Given the description of an element on the screen output the (x, y) to click on. 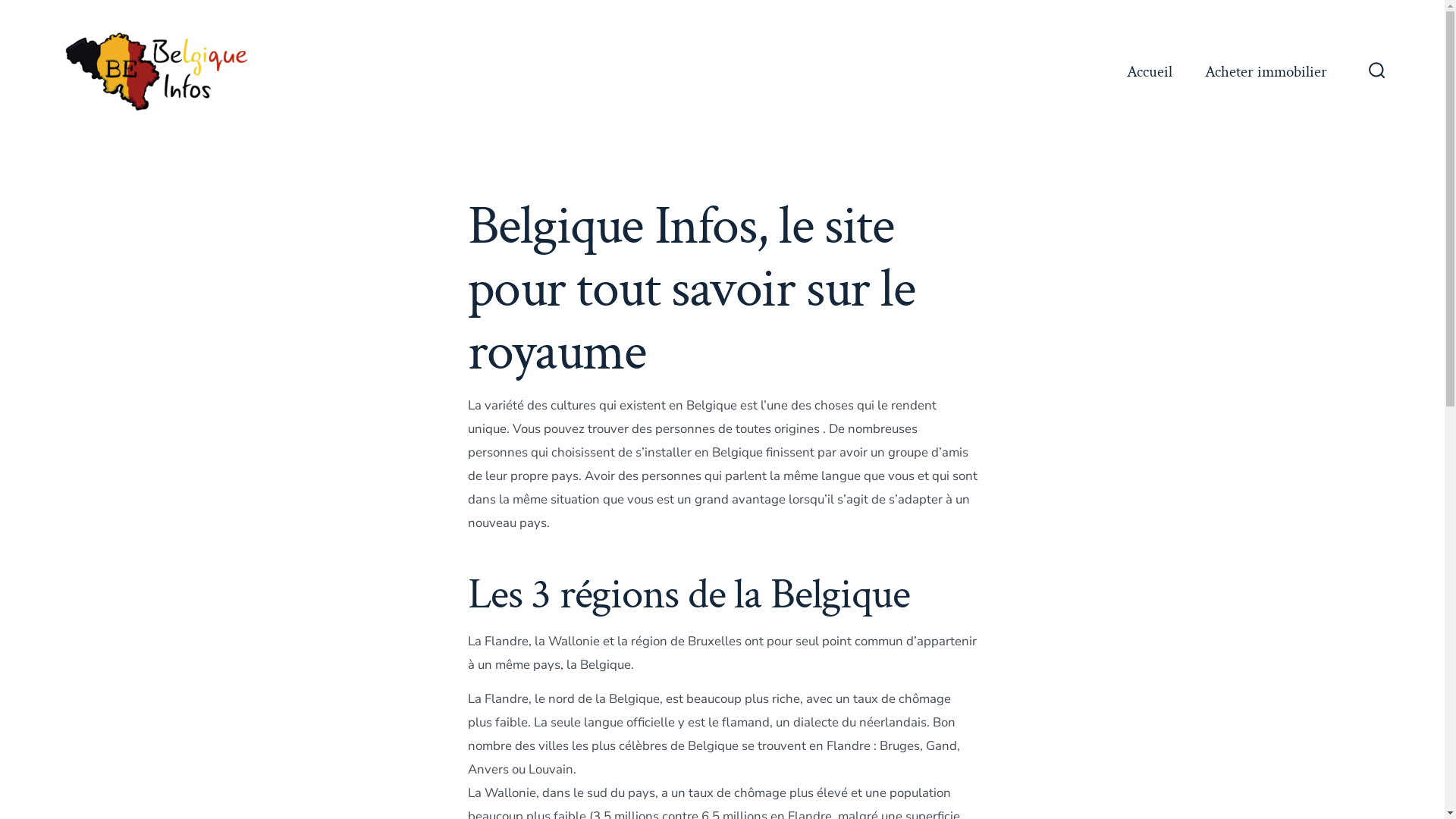
Acheter immobilier Element type: text (1265, 71)
Accueil Element type: text (1149, 71)
Bascule Rechercher Element type: text (1376, 72)
